Given the description of an element on the screen output the (x, y) to click on. 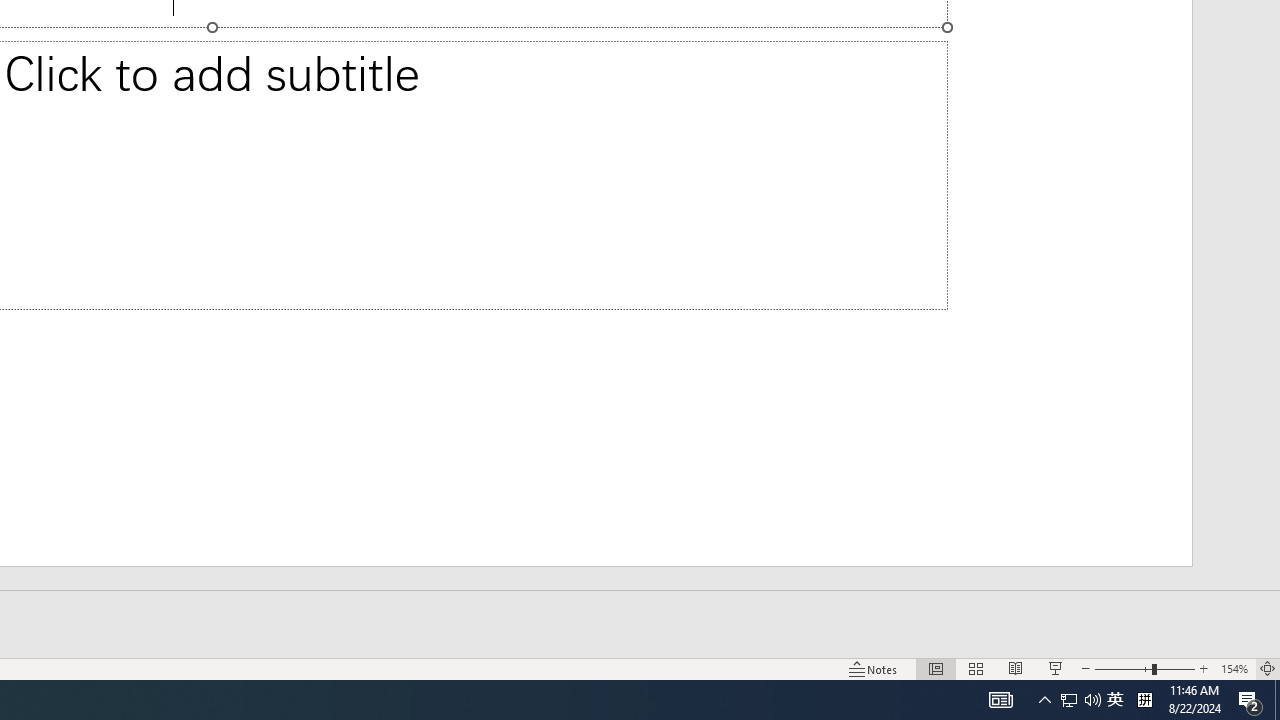
Zoom 154% (1234, 668)
